Given the description of an element on the screen output the (x, y) to click on. 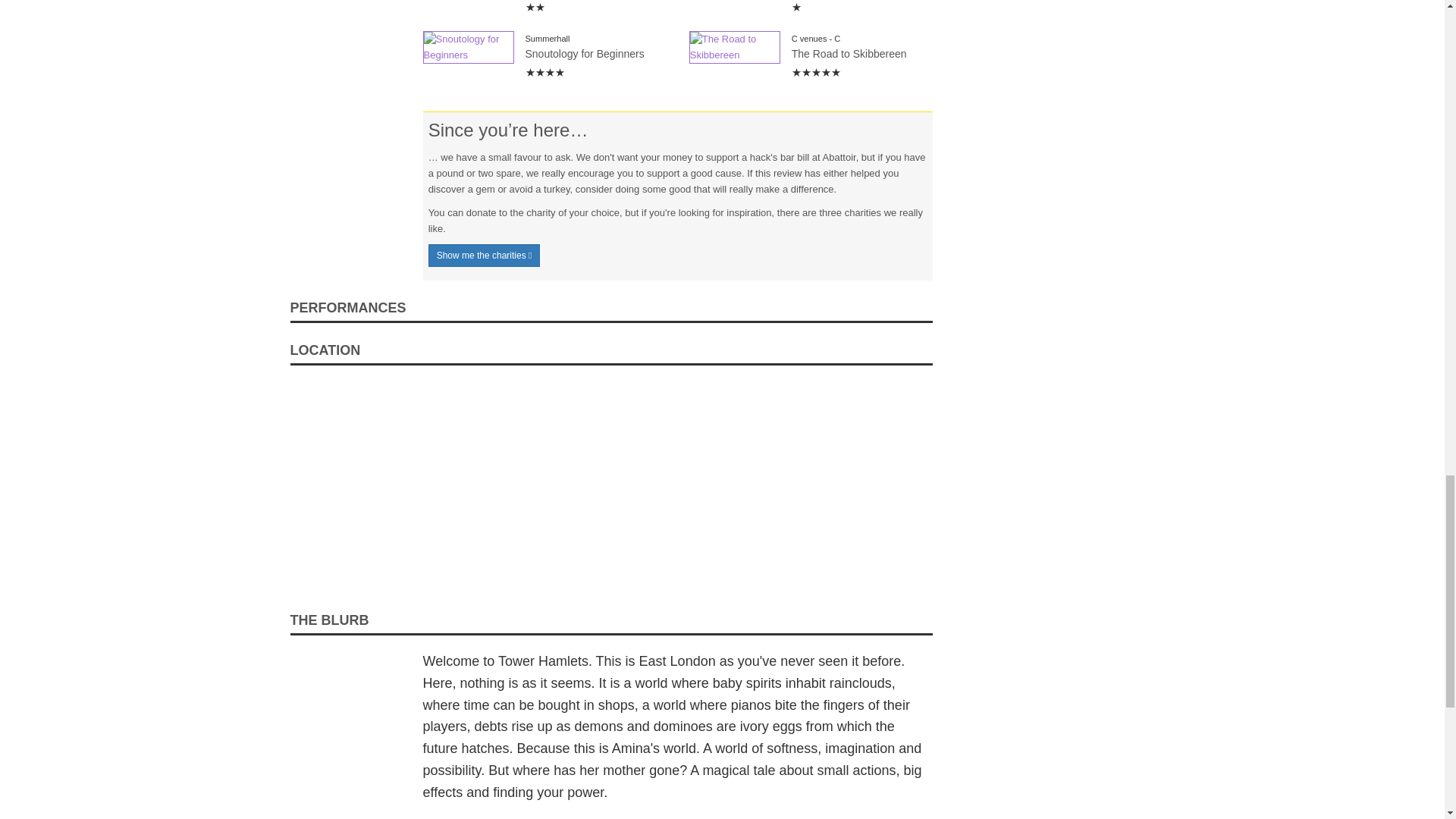
The Road to Skibbereen (734, 47)
Snoutology for Beginners (468, 47)
